Given the description of an element on the screen output the (x, y) to click on. 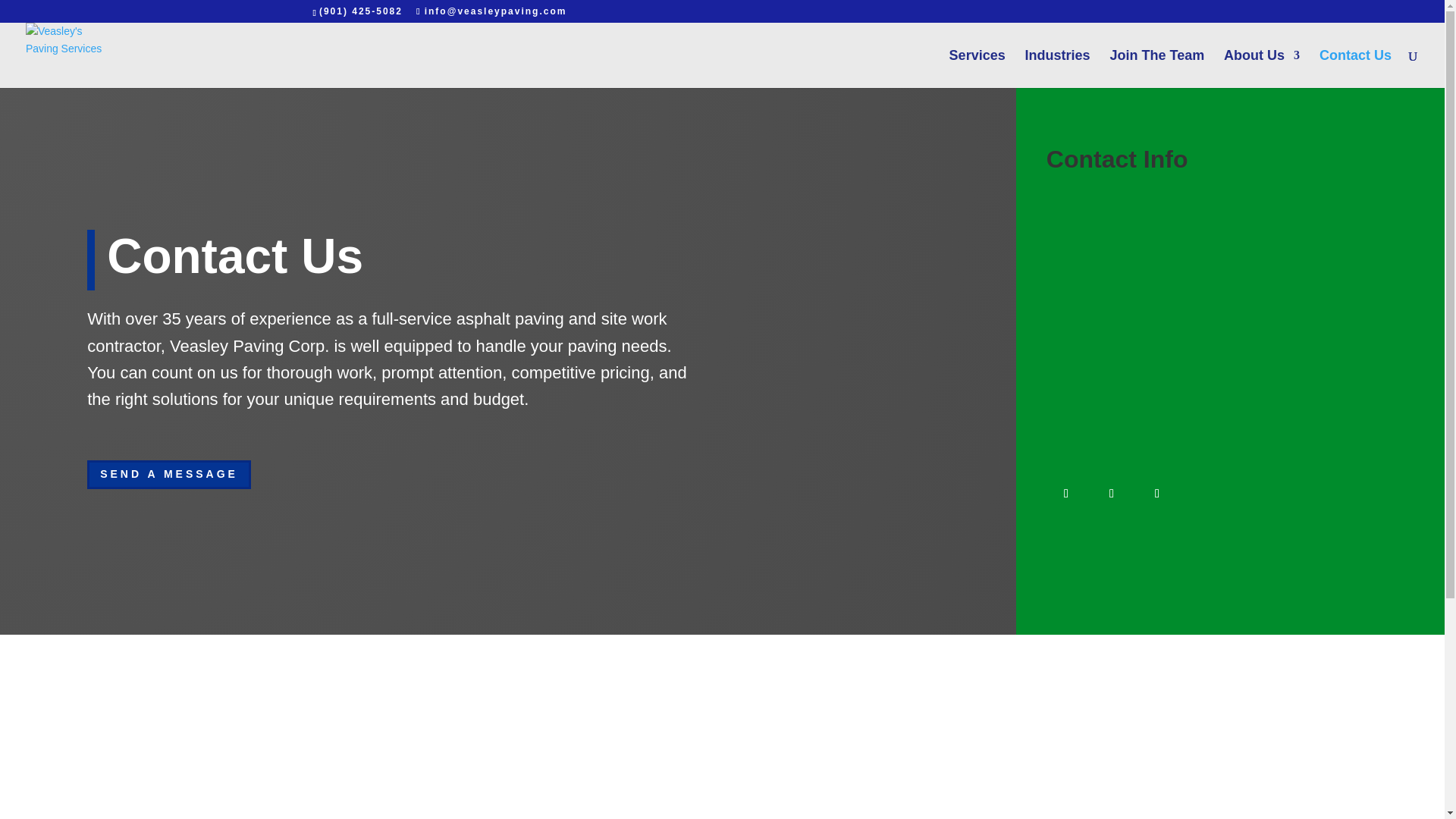
About Us (1262, 68)
Follow on Facebook (1066, 493)
Join The Team (1157, 68)
Follow on Twitter (1111, 493)
Follow on LinkedIn (1156, 493)
Services (977, 68)
SEND A MESSAGE (168, 474)
Industries (1057, 68)
Contact Us (1355, 68)
